Given the description of an element on the screen output the (x, y) to click on. 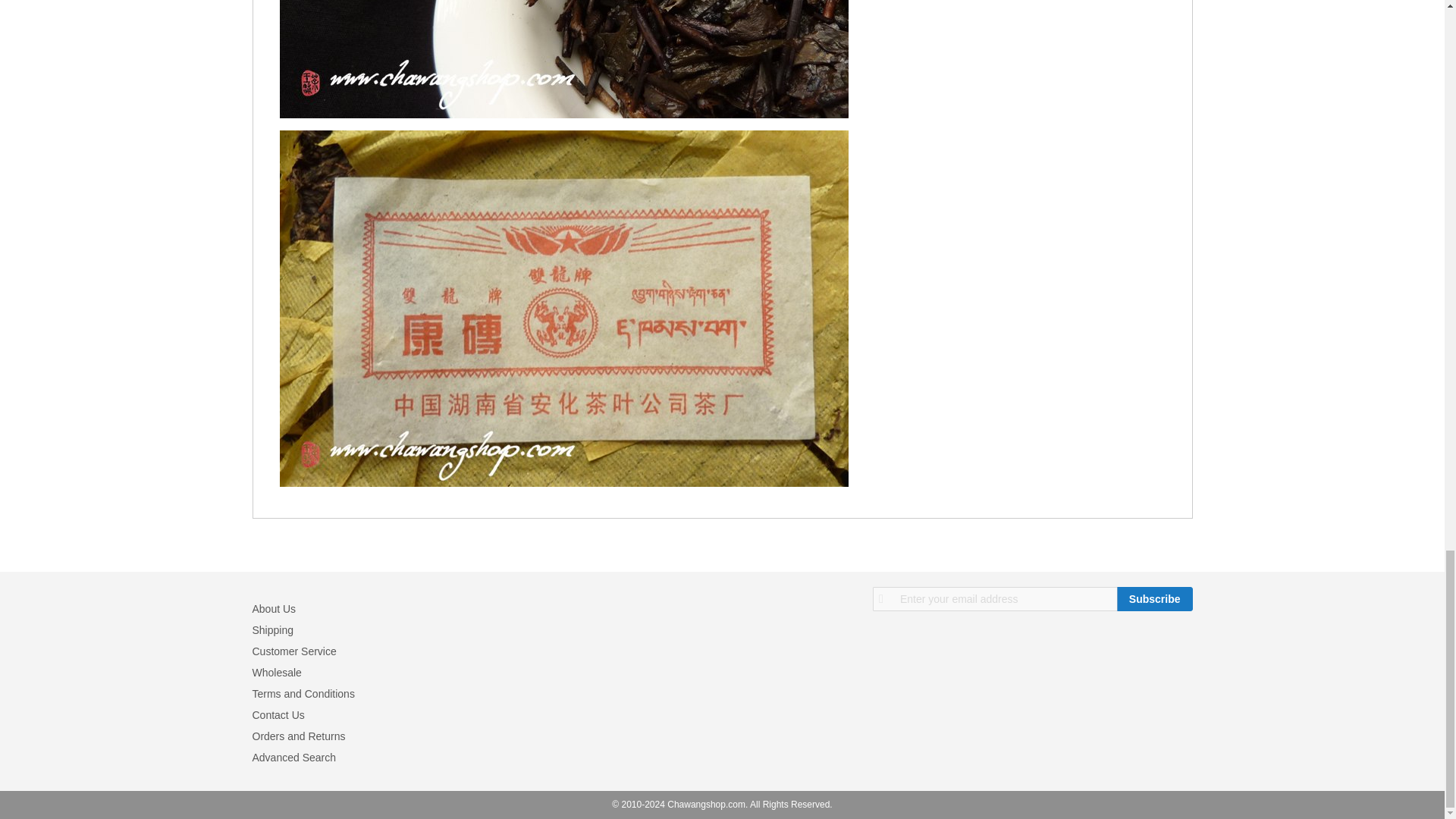
Subscribe (1154, 598)
2009 Hunan Anhua Kang Zhuan 300g (563, 58)
